Given the description of an element on the screen output the (x, y) to click on. 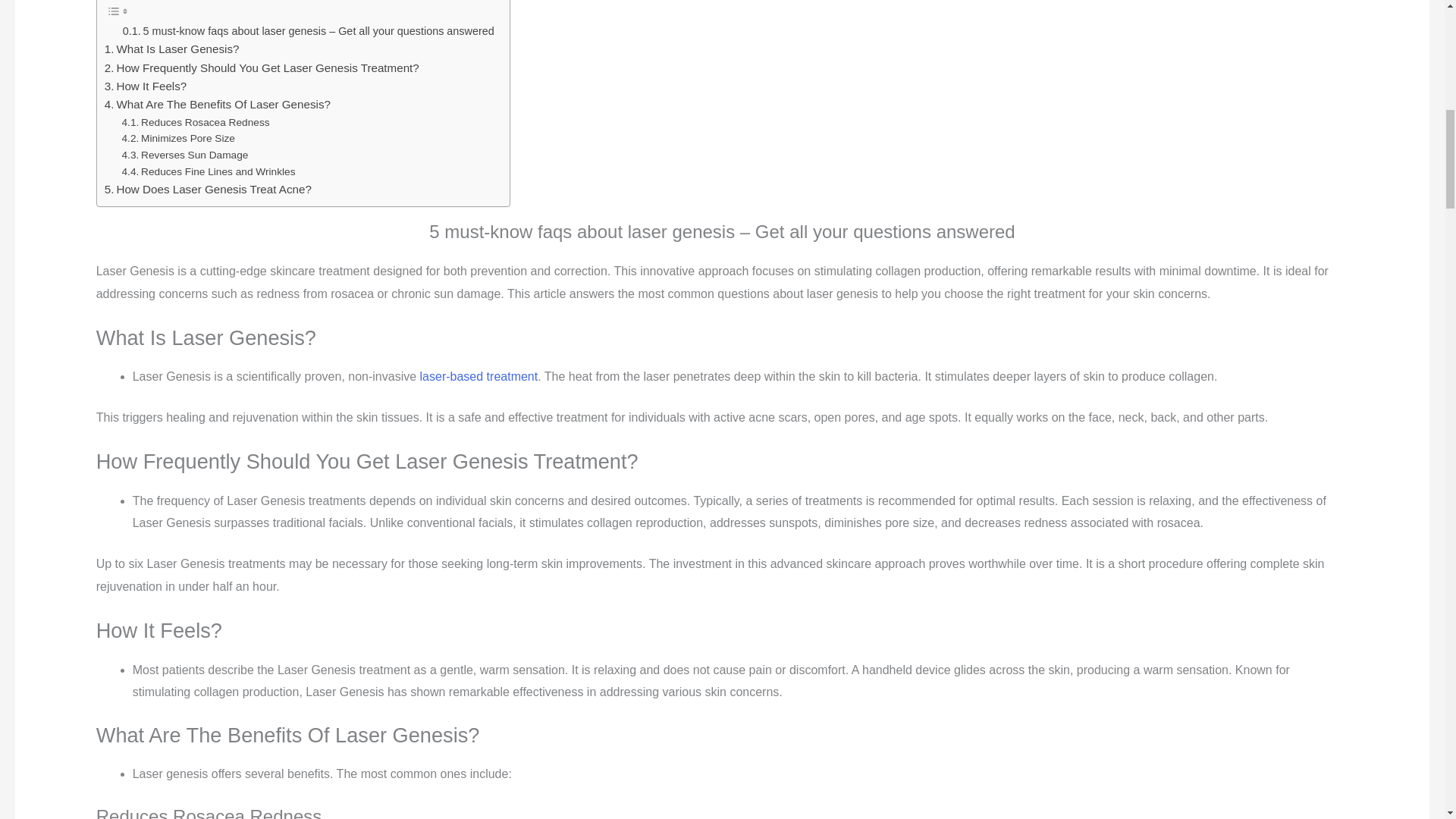
Reduces Rosacea Redness (195, 121)
What Are The Benefits Of Laser Genesis? (217, 104)
How It Feels? (145, 85)
Reduces Fine Lines and Wrinkles (208, 171)
How Does Laser Genesis Treat Acne? (207, 189)
How Frequently Should You Get Laser Genesis Treatment? (261, 67)
Reverses Sun Damage (185, 155)
Minimizes Pore Size (178, 138)
What Is Laser Genesis? (172, 49)
